Given the description of an element on the screen output the (x, y) to click on. 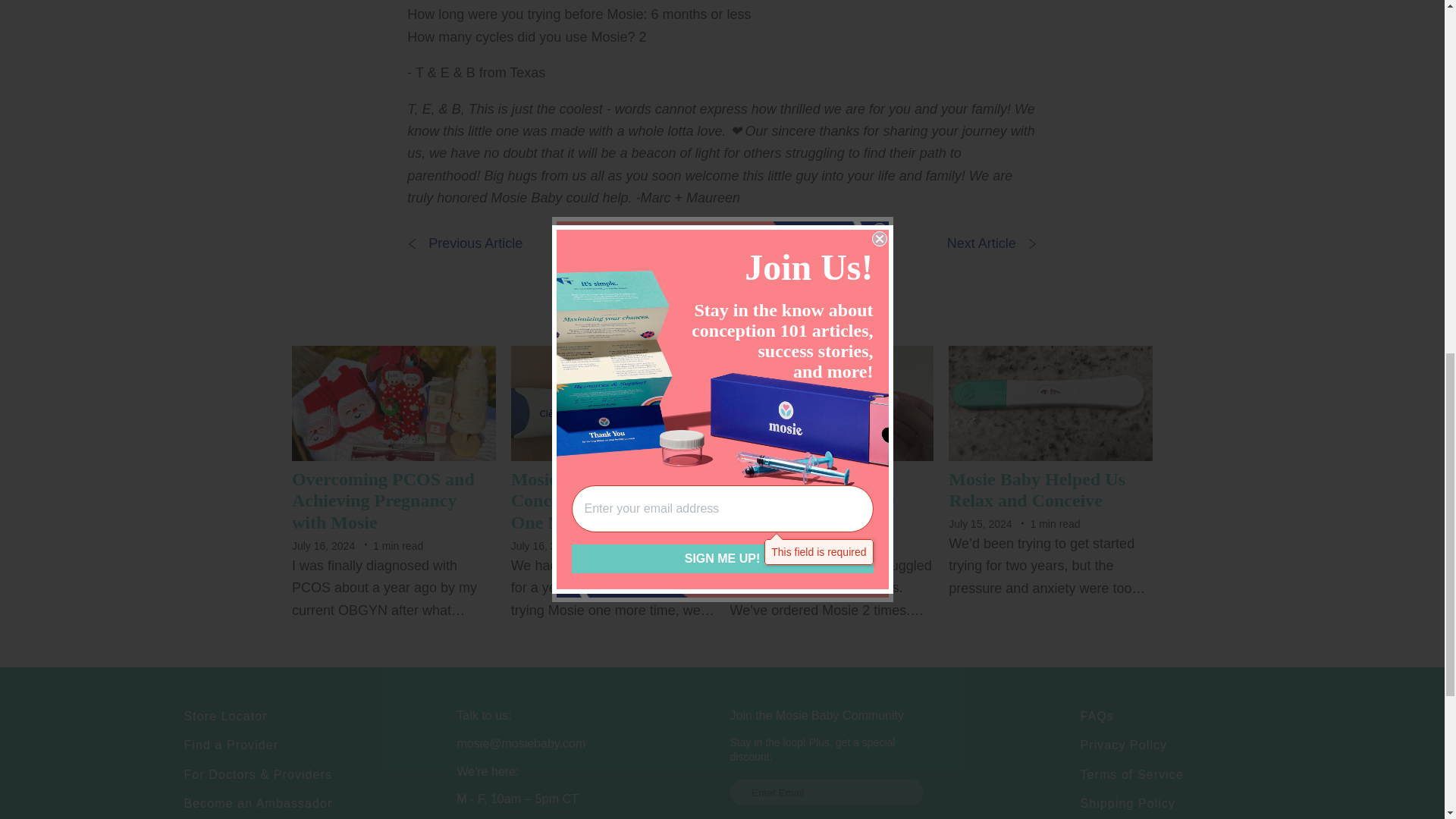
Next (991, 243)
Previous Article (464, 243)
Previous (464, 243)
